Given the description of an element on the screen output the (x, y) to click on. 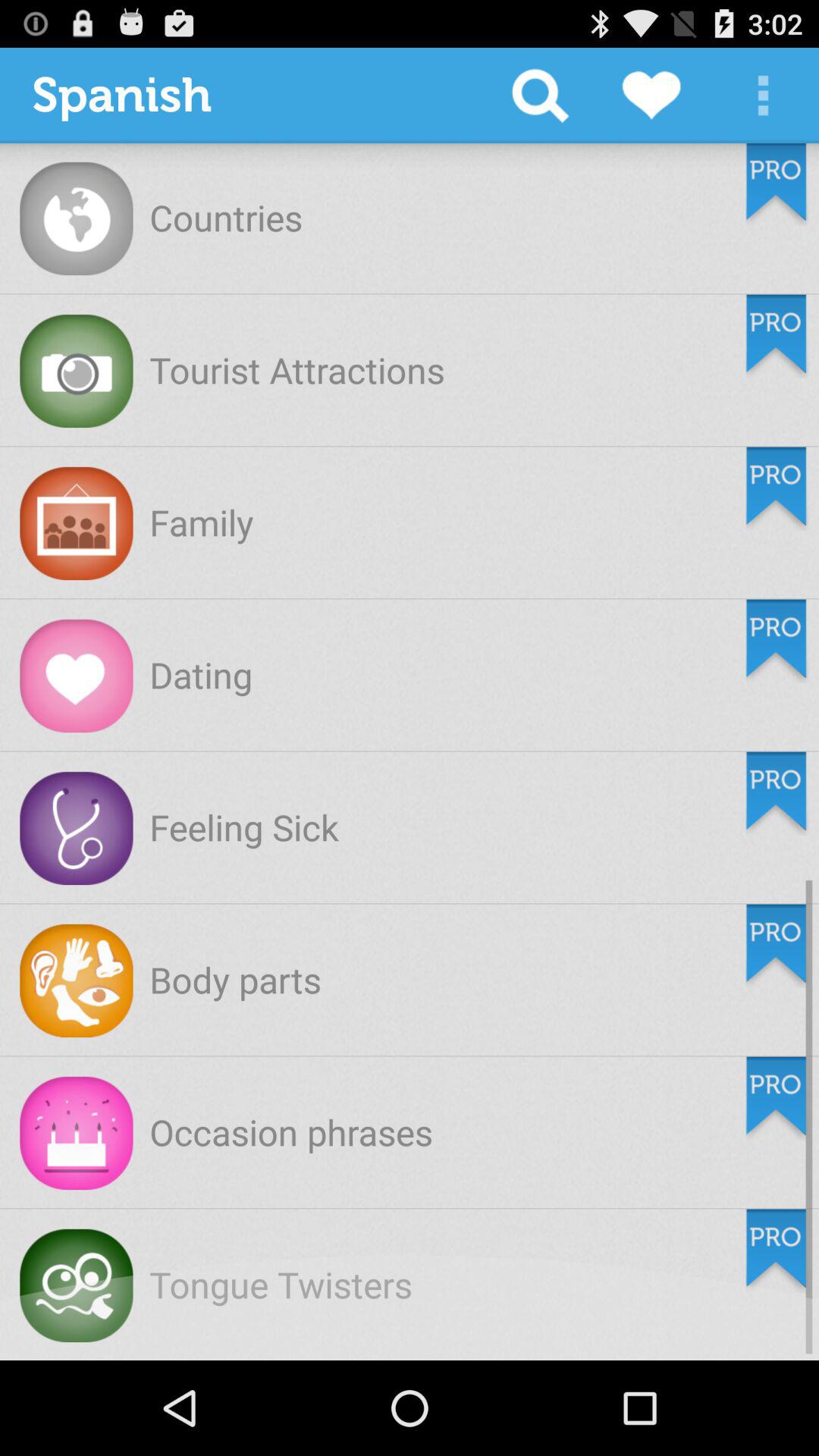
swipe until occasion phrases item (290, 1131)
